Given the description of an element on the screen output the (x, y) to click on. 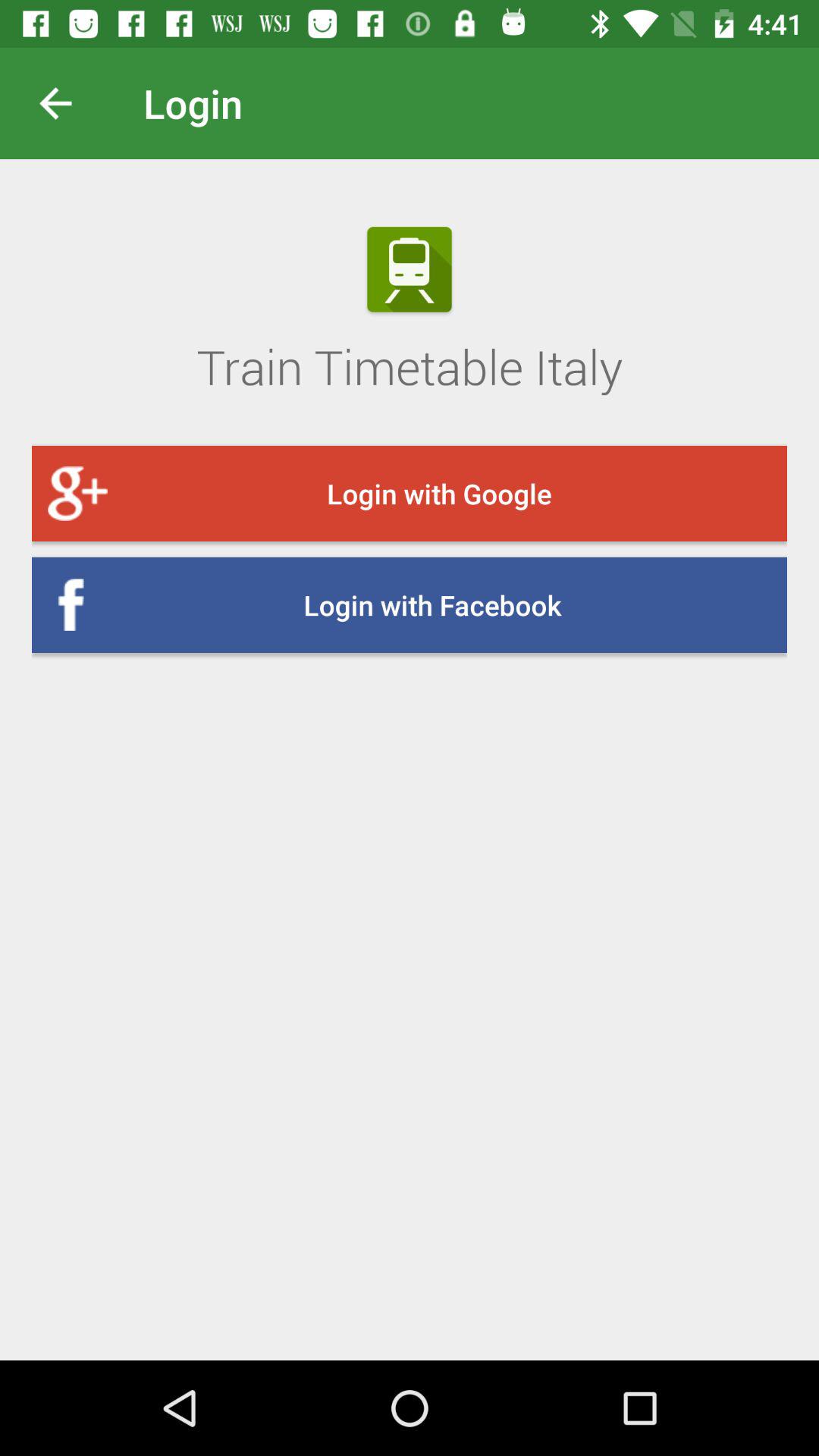
previous screen (67, 103)
